Given the description of an element on the screen output the (x, y) to click on. 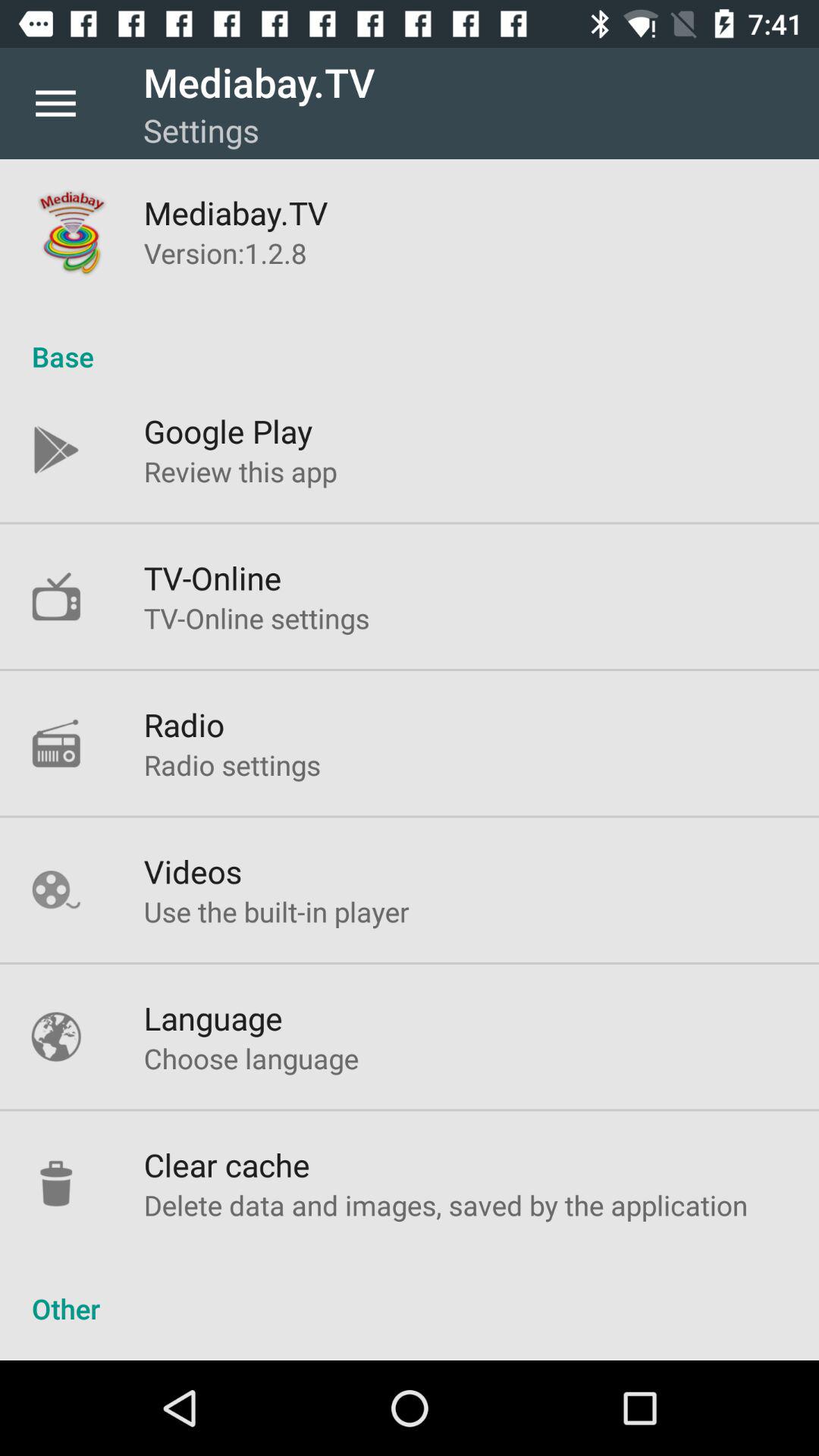
turn on clear cache icon (226, 1164)
